Given the description of an element on the screen output the (x, y) to click on. 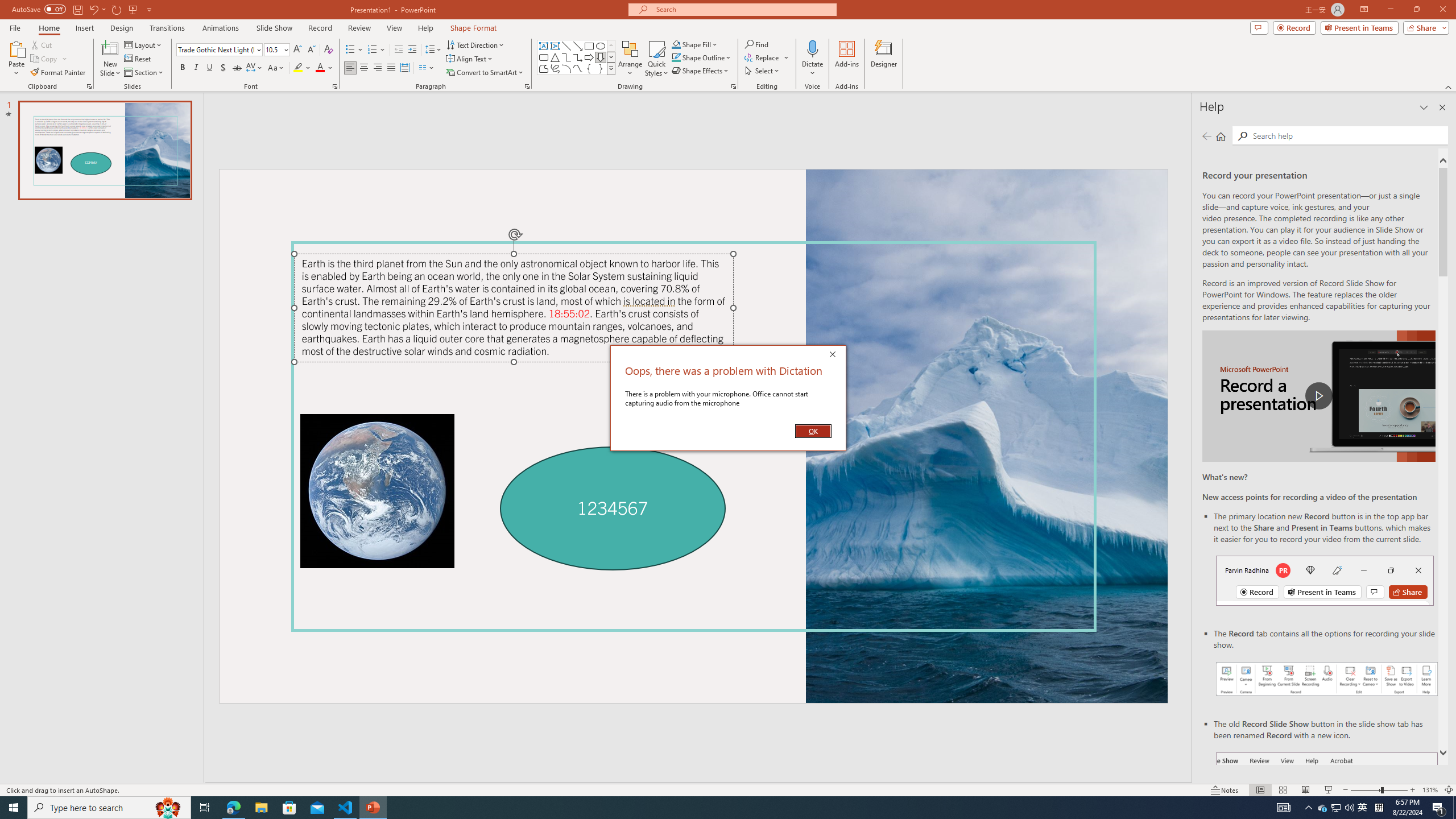
Format Object... (733, 85)
Visual Studio Code - 1 running window (345, 807)
Notification Chevron (1308, 807)
Underline (209, 67)
New Slide (110, 58)
OK (812, 431)
Quick Access Toolbar (82, 9)
File Tab (15, 27)
Increase Font Size (297, 49)
Class: MsoCommandBar (728, 789)
Redo (117, 9)
Bullets (349, 49)
Connector: Elbow (566, 57)
Shape Outline (701, 56)
